Given the description of an element on the screen output the (x, y) to click on. 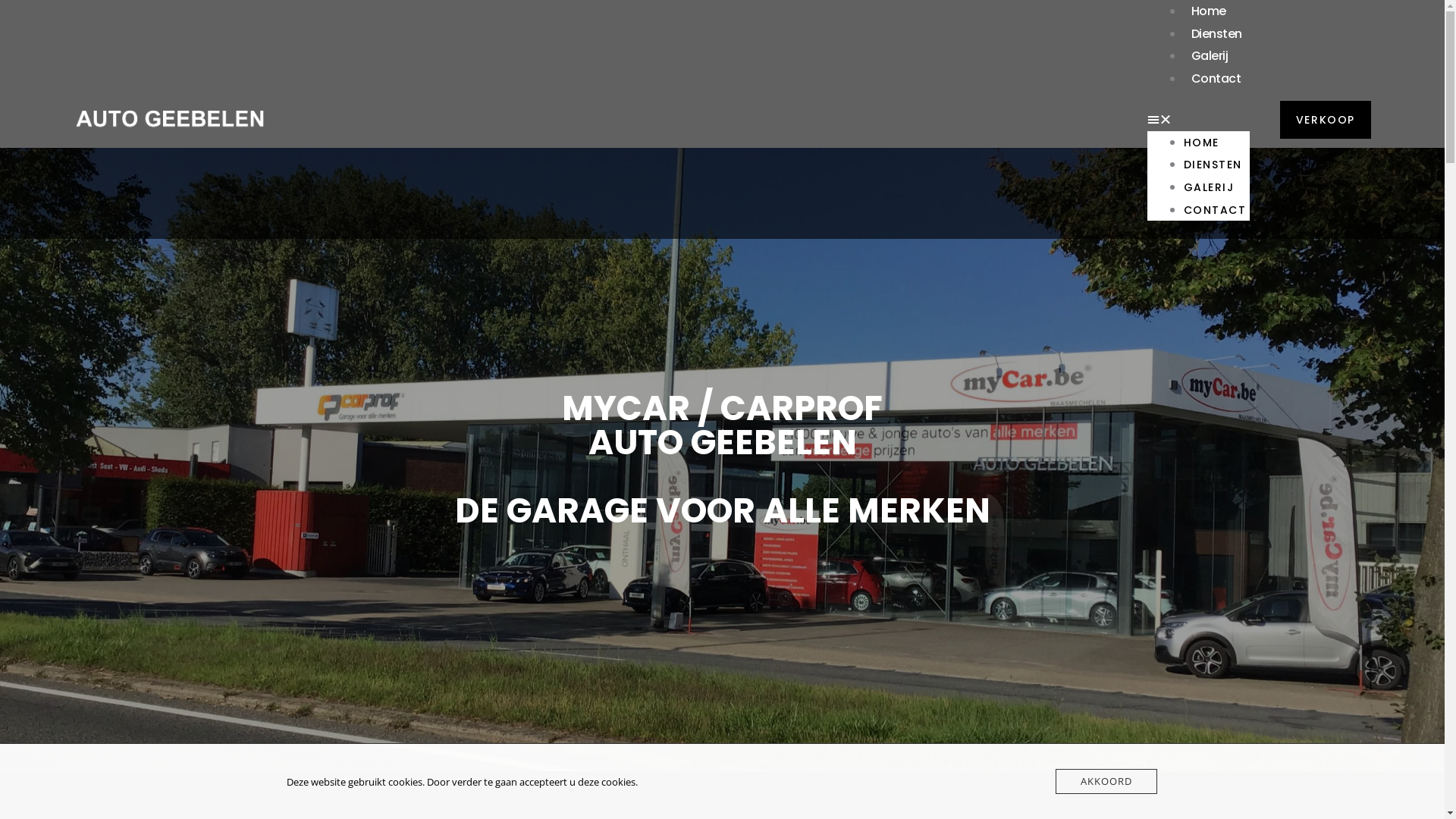
Contact Element type: text (1215, 78)
GALERIJ Element type: text (1208, 186)
DIENSTEN Element type: text (1212, 164)
HOME Element type: text (1201, 142)
Galerij Element type: text (1209, 55)
VERKOOP Element type: text (1325, 119)
CONTACT Element type: text (1214, 209)
AKKOORD Element type: text (1106, 780)
Diensten Element type: text (1216, 33)
